Given the description of an element on the screen output the (x, y) to click on. 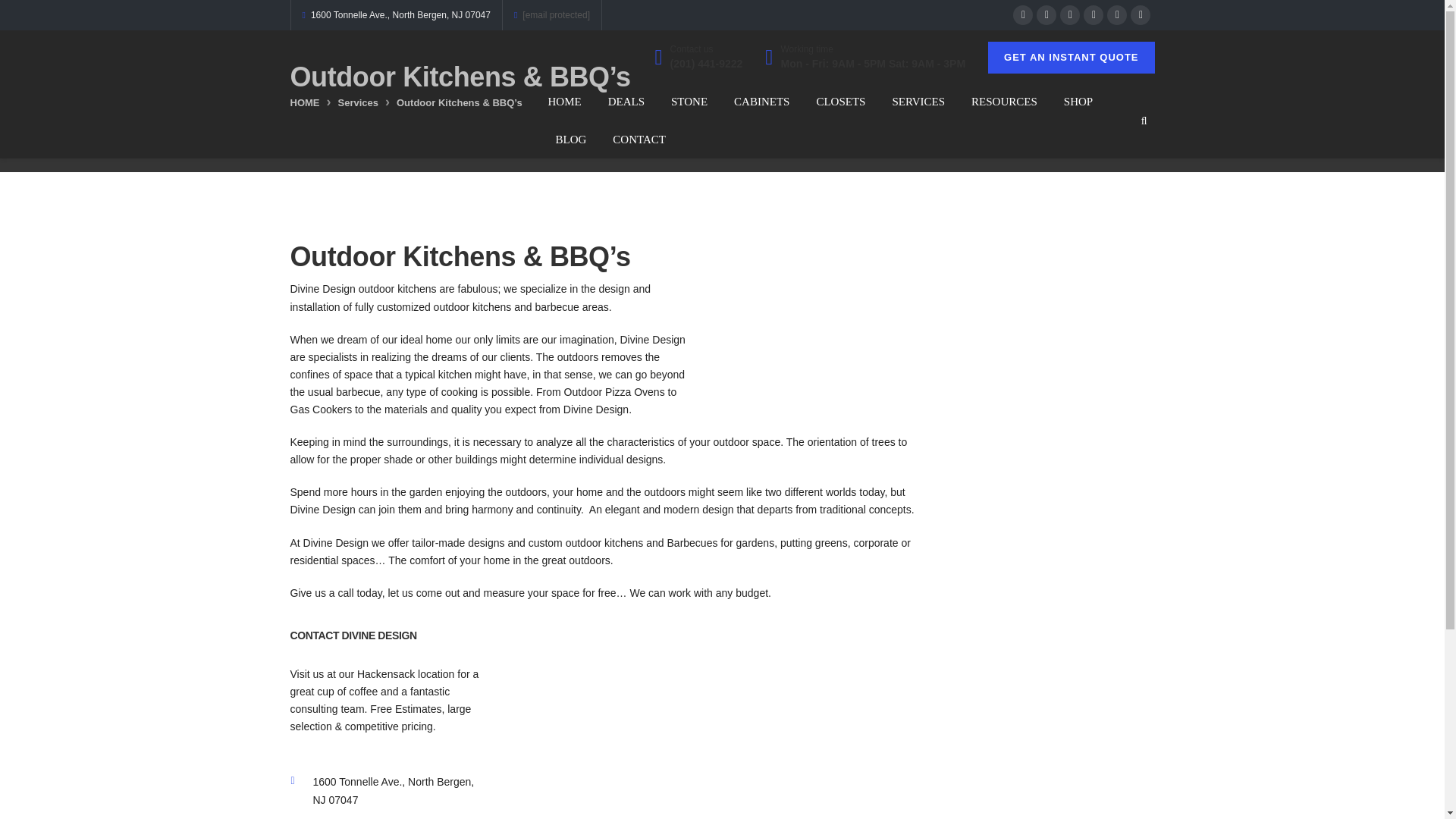
DEALS (626, 101)
Facebook (1022, 14)
RESOURCES (1003, 101)
LinkedIn (1069, 14)
CLOSETS (839, 101)
STONE (689, 101)
Instagram (1093, 14)
Youtube (1116, 14)
GET AN INSTANT QUOTE (1071, 57)
RSS (1140, 14)
SERVICES (917, 101)
CABINETS (761, 101)
